Given the description of an element on the screen output the (x, y) to click on. 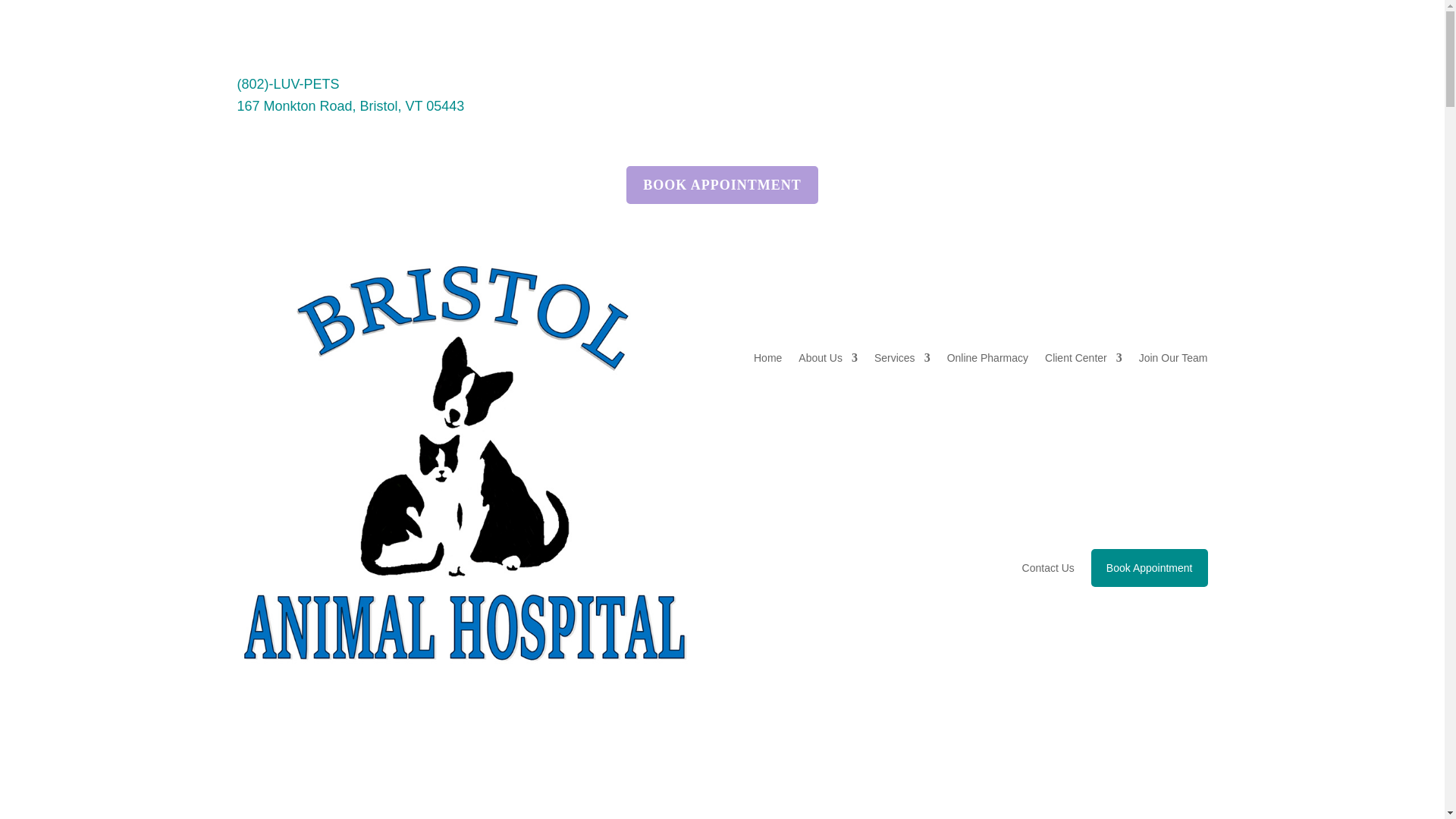
Online Pharmacy (987, 357)
Client Center (1083, 357)
Book Appointment (1149, 567)
Contact Us (1048, 567)
Join Our Team (1173, 357)
